Given the description of an element on the screen output the (x, y) to click on. 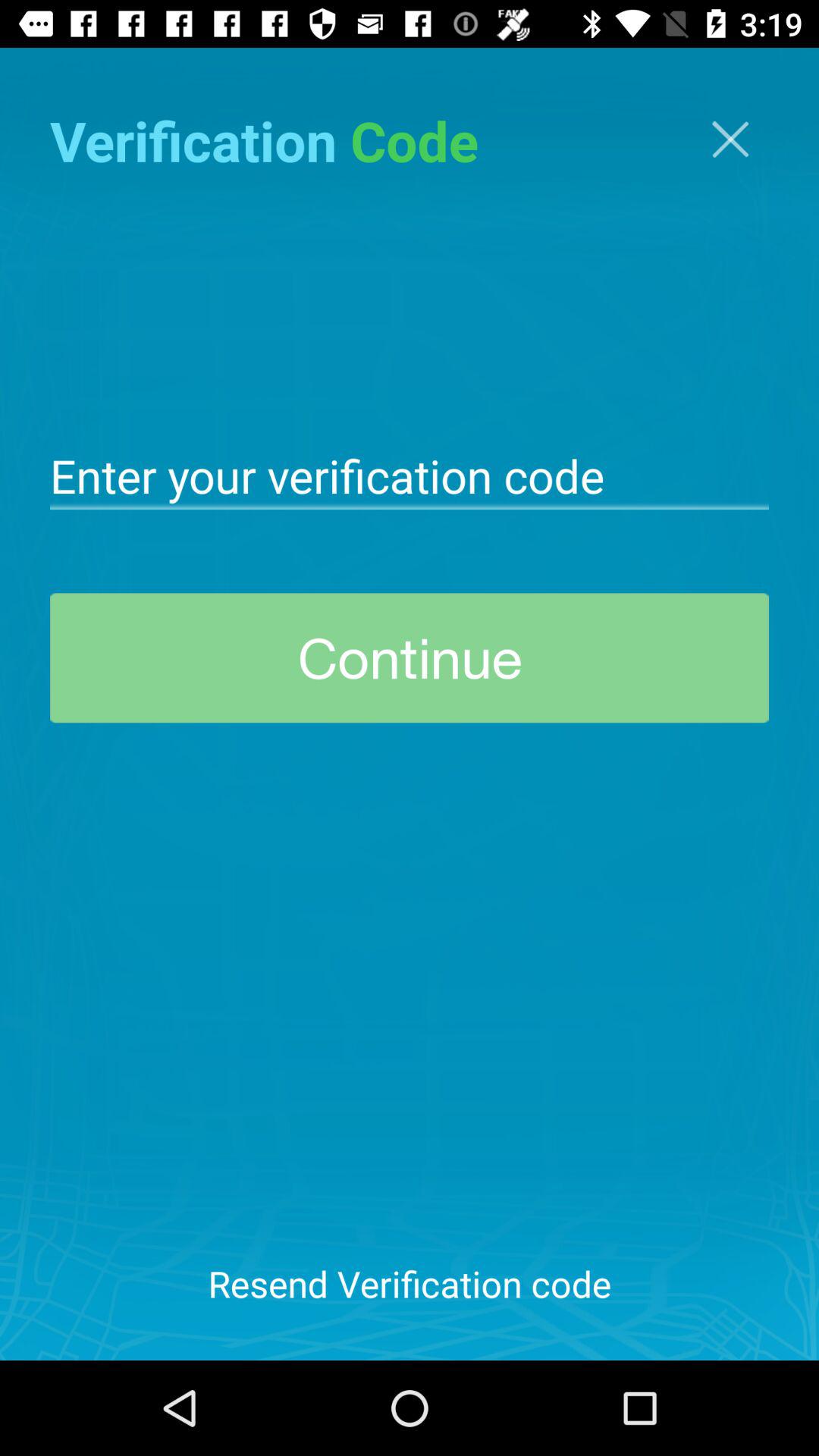
enter confirmation code (409, 474)
